Given the description of an element on the screen output the (x, y) to click on. 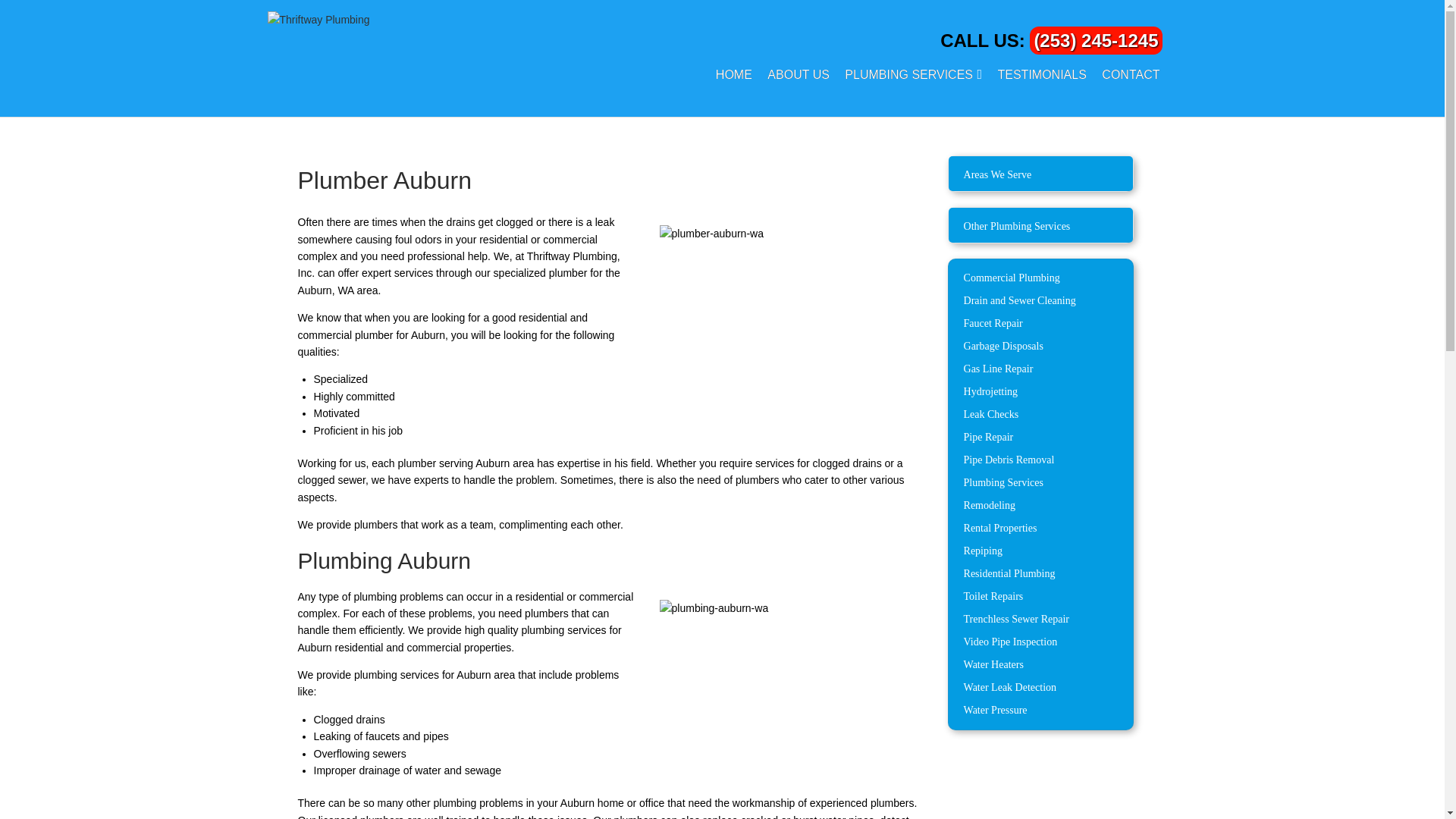
CONTACT (1130, 74)
ABOUT US (798, 74)
HOME (734, 74)
TESTIMONIALS (1041, 74)
Areas We Serve (1040, 174)
PLUMBING SERVICES (908, 74)
